Given the description of an element on the screen output the (x, y) to click on. 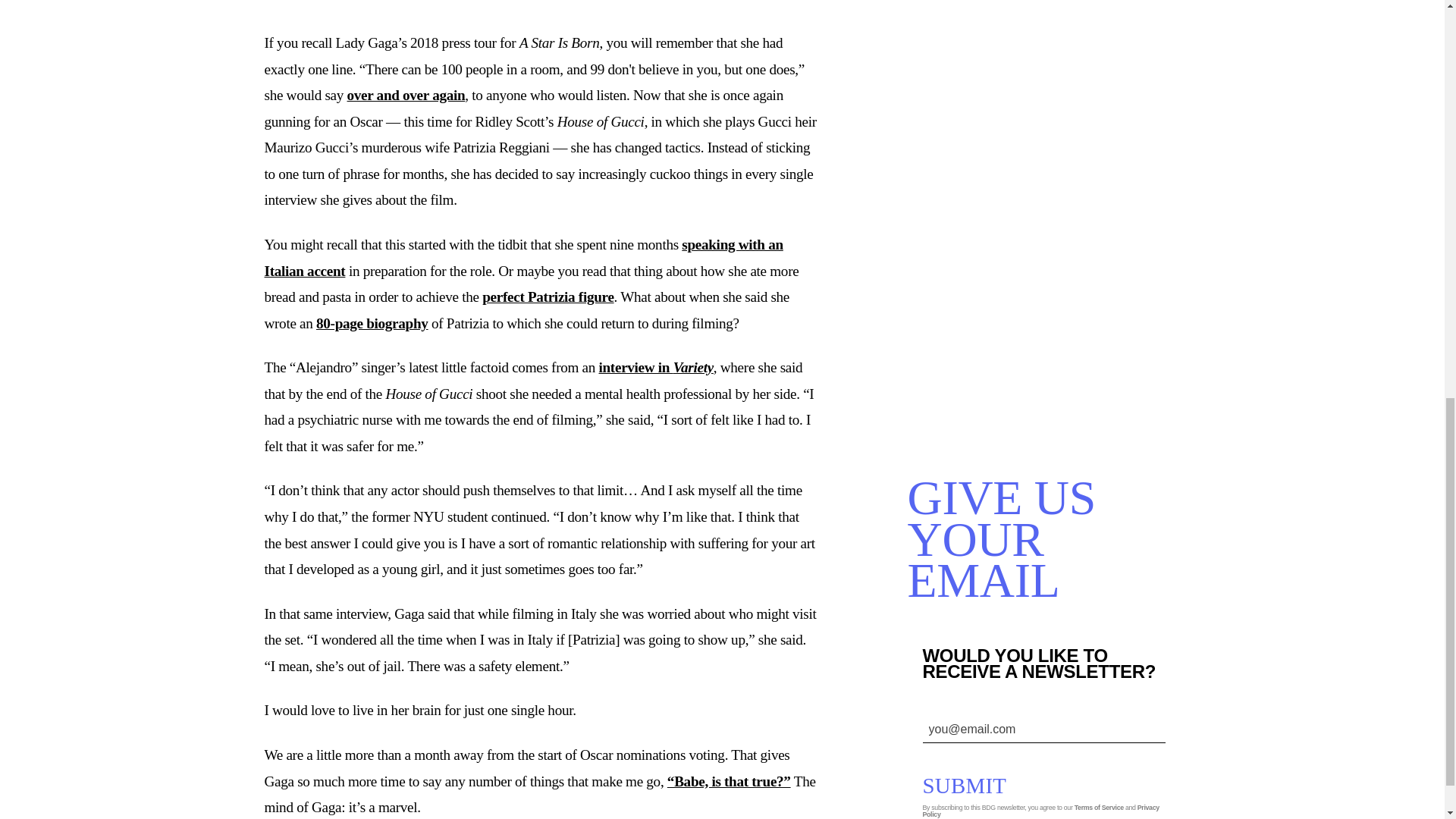
perfect Patrizia figure (546, 296)
over and over again (406, 94)
interview in Variety (655, 367)
Terms of Service (1099, 807)
Privacy Policy (1039, 811)
speaking with an Italian accent (523, 257)
80-page biography (371, 323)
SUBMIT (975, 785)
